Given the description of an element on the screen output the (x, y) to click on. 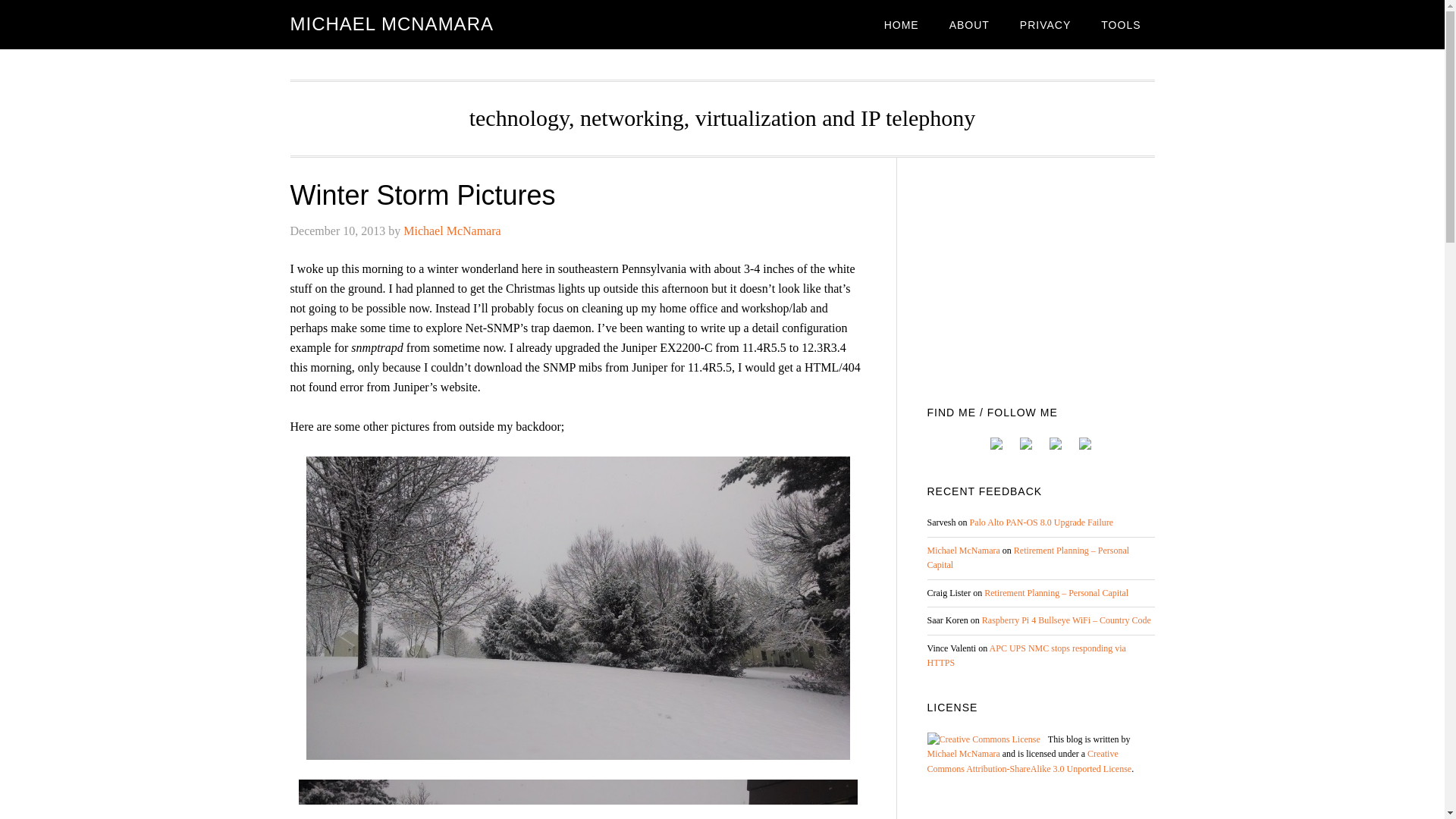
MICHAEL MCNAMARA (391, 23)
PRIVACY (1045, 24)
Creative Commons Attribution-ShareAlike 3.0 Unported License (1028, 760)
Michael McNamara (962, 550)
TOOLS (1120, 24)
HOME (901, 24)
APC UPS NMC stops responding via HTTPS (1025, 655)
Palo Alto PAN-OS 8.0 Upgrade Failure (1041, 521)
Michael McNamara (451, 230)
ABOUT (969, 24)
Michael McNamara (962, 753)
